Given the description of an element on the screen output the (x, y) to click on. 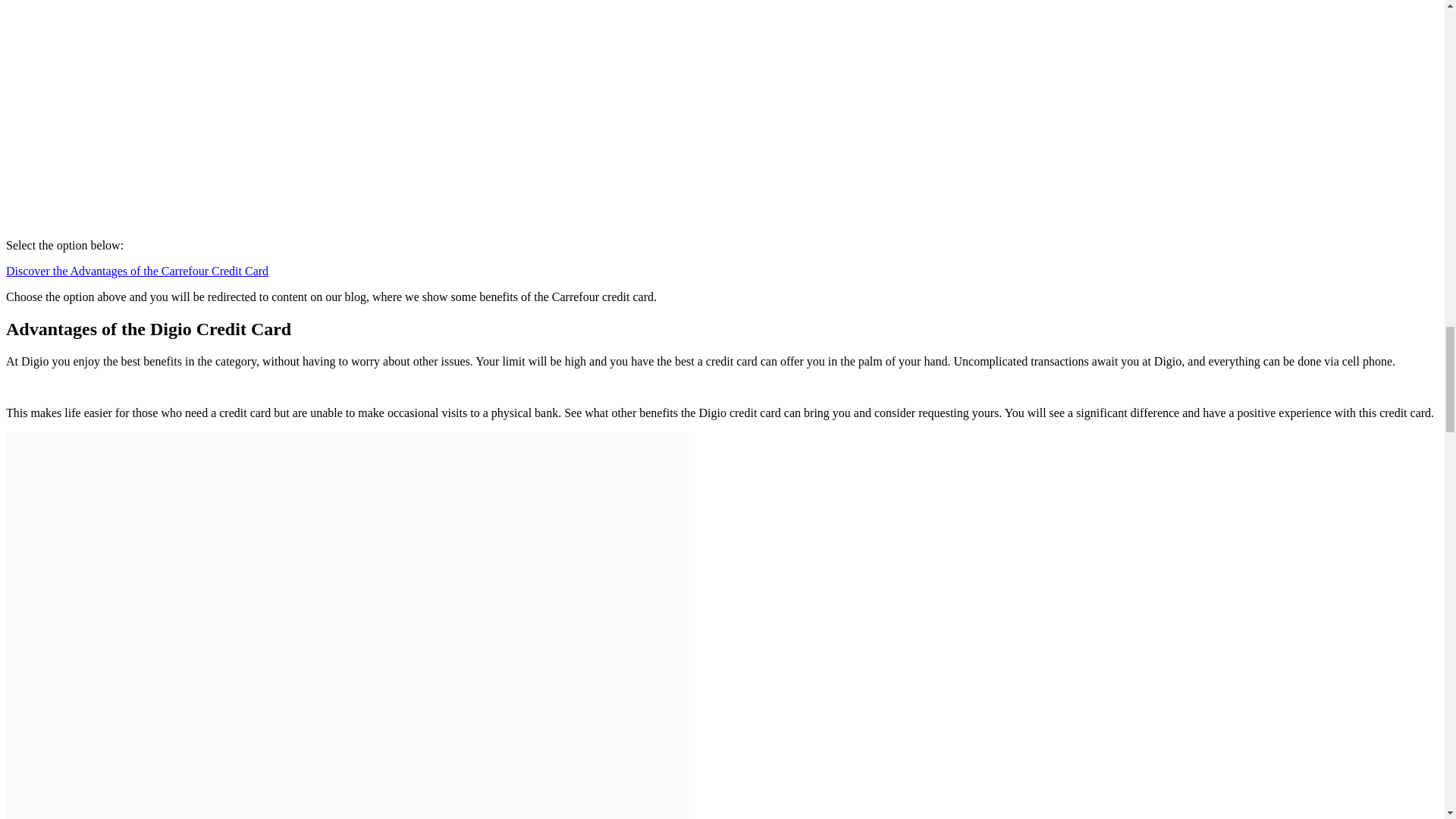
Discover the Advantages of the Carrefour Credit Card (136, 270)
